Given the description of an element on the screen output the (x, y) to click on. 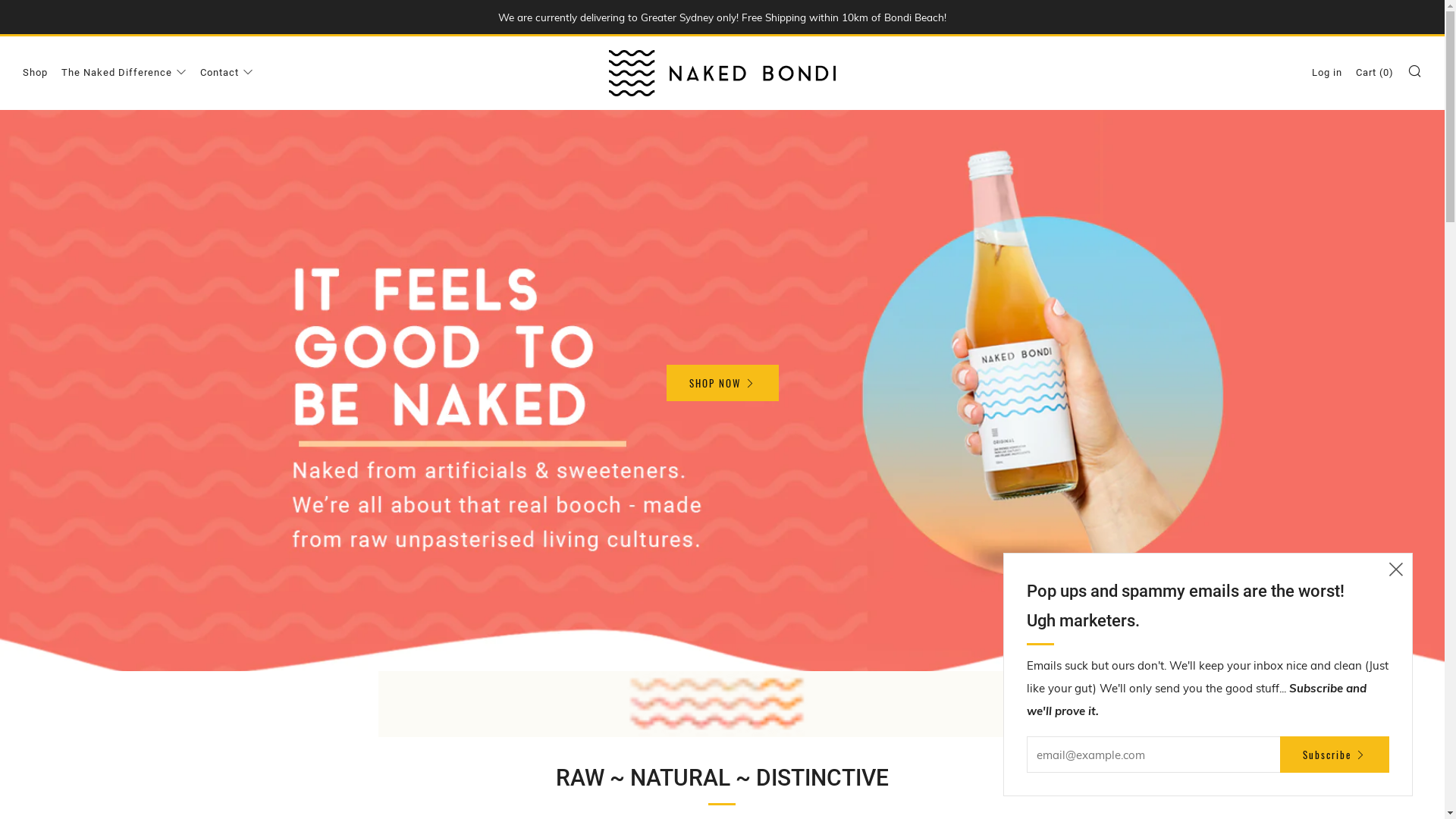
Contact Element type: text (226, 72)
Log in Element type: text (1326, 72)
Subscribe Element type: text (1334, 754)
Cart (0) Element type: text (1374, 72)
Close (esc) Element type: text (1396, 569)
The Naked Difference Element type: text (123, 72)
Shop Element type: text (34, 72)
Search Element type: text (1414, 70)
SHOP NOW Element type: text (721, 382)
